Given the description of an element on the screen output the (x, y) to click on. 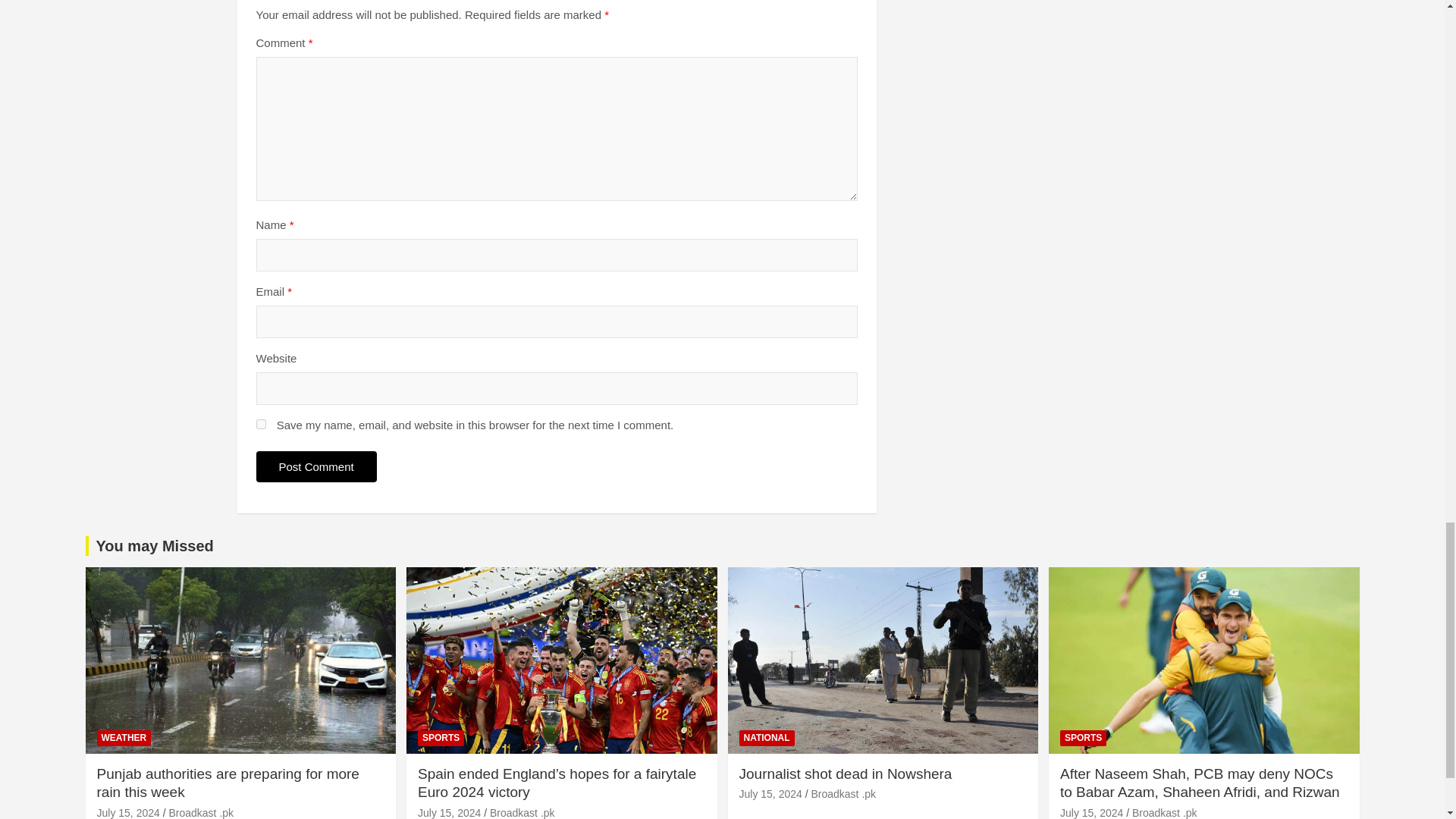
Post Comment (316, 466)
Punjab authorities are preparing for more rain this week (128, 812)
Journalist shot dead in Nowshera (770, 793)
yes (261, 424)
Post Comment (316, 466)
